Given the description of an element on the screen output the (x, y) to click on. 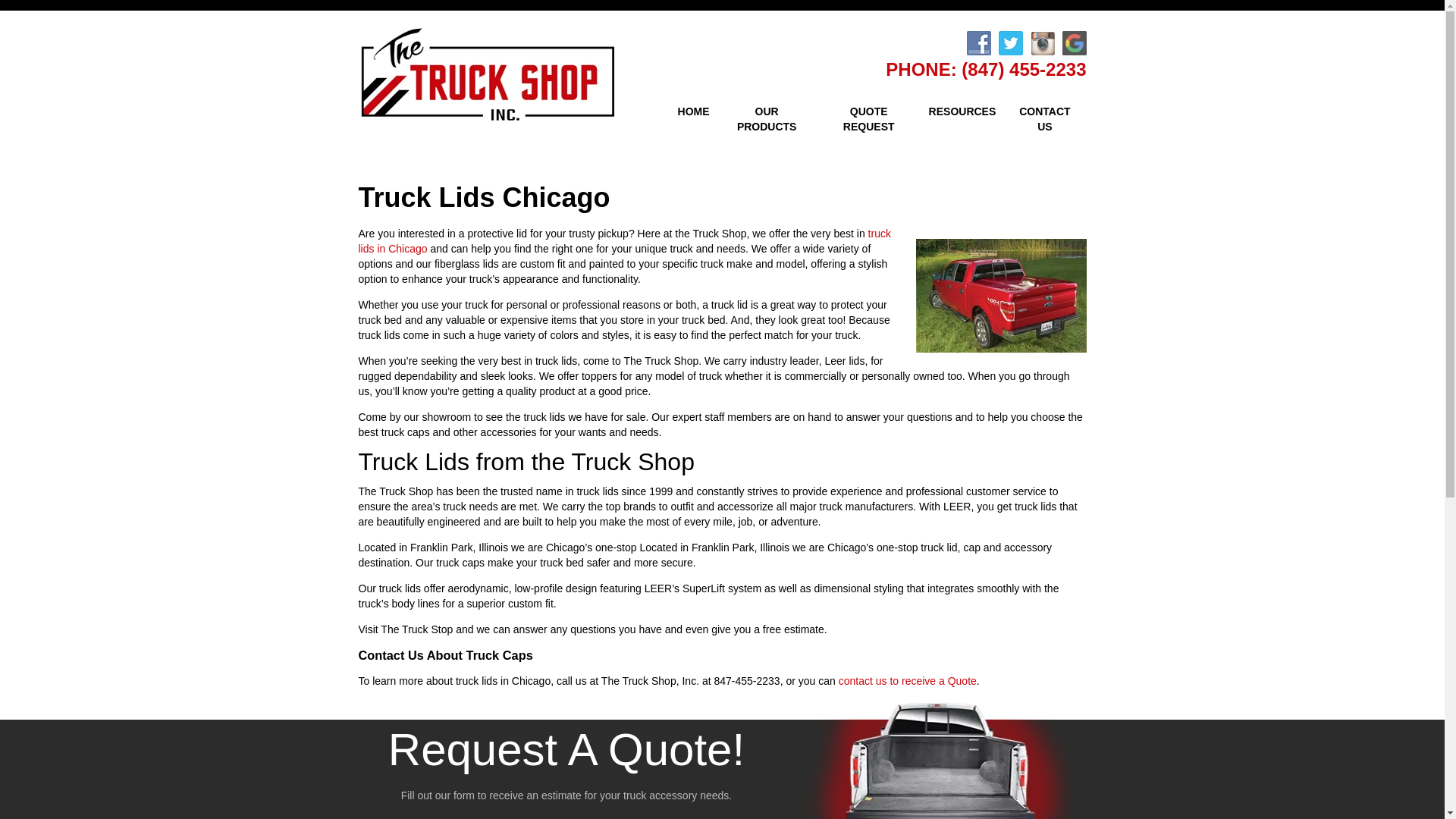
contact us to receive a Quote (907, 680)
 Facebook (978, 43)
 Google (1073, 43)
truck lids in Chicago (623, 240)
 Twitter (1009, 43)
OUR PRODUCTS (766, 119)
RESOURCES (962, 112)
QUOTE REQUEST (868, 119)
HOME (693, 112)
 Instagram (1041, 43)
CONTACT US (1044, 119)
